Given the description of an element on the screen output the (x, y) to click on. 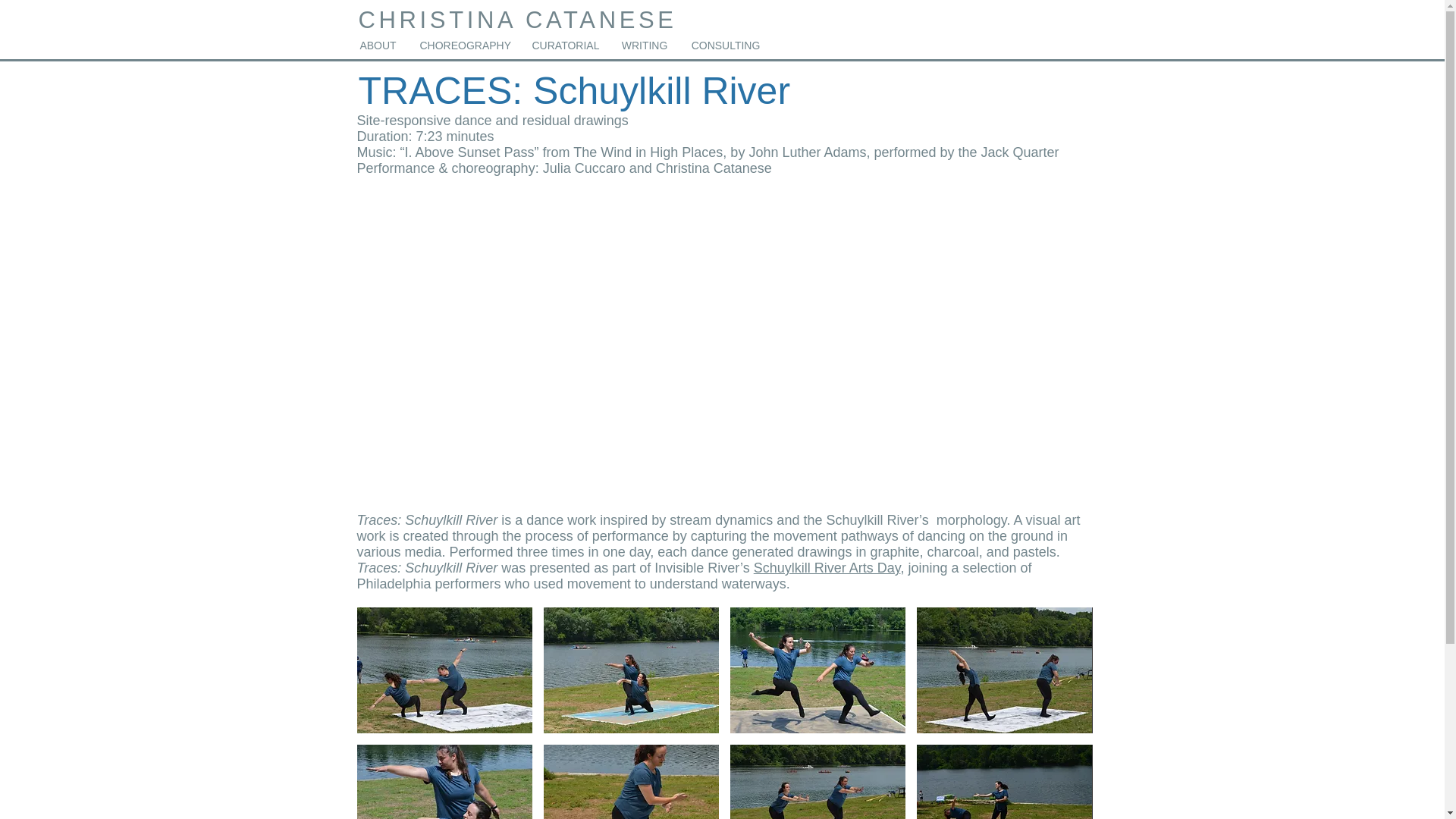
ABOUT (377, 45)
WRITING (644, 45)
CONSULTING (725, 45)
Schuylkill River Arts Day (827, 567)
CURATORIAL (563, 45)
CHRISTINA CATANESE (517, 19)
